Given the description of an element on the screen output the (x, y) to click on. 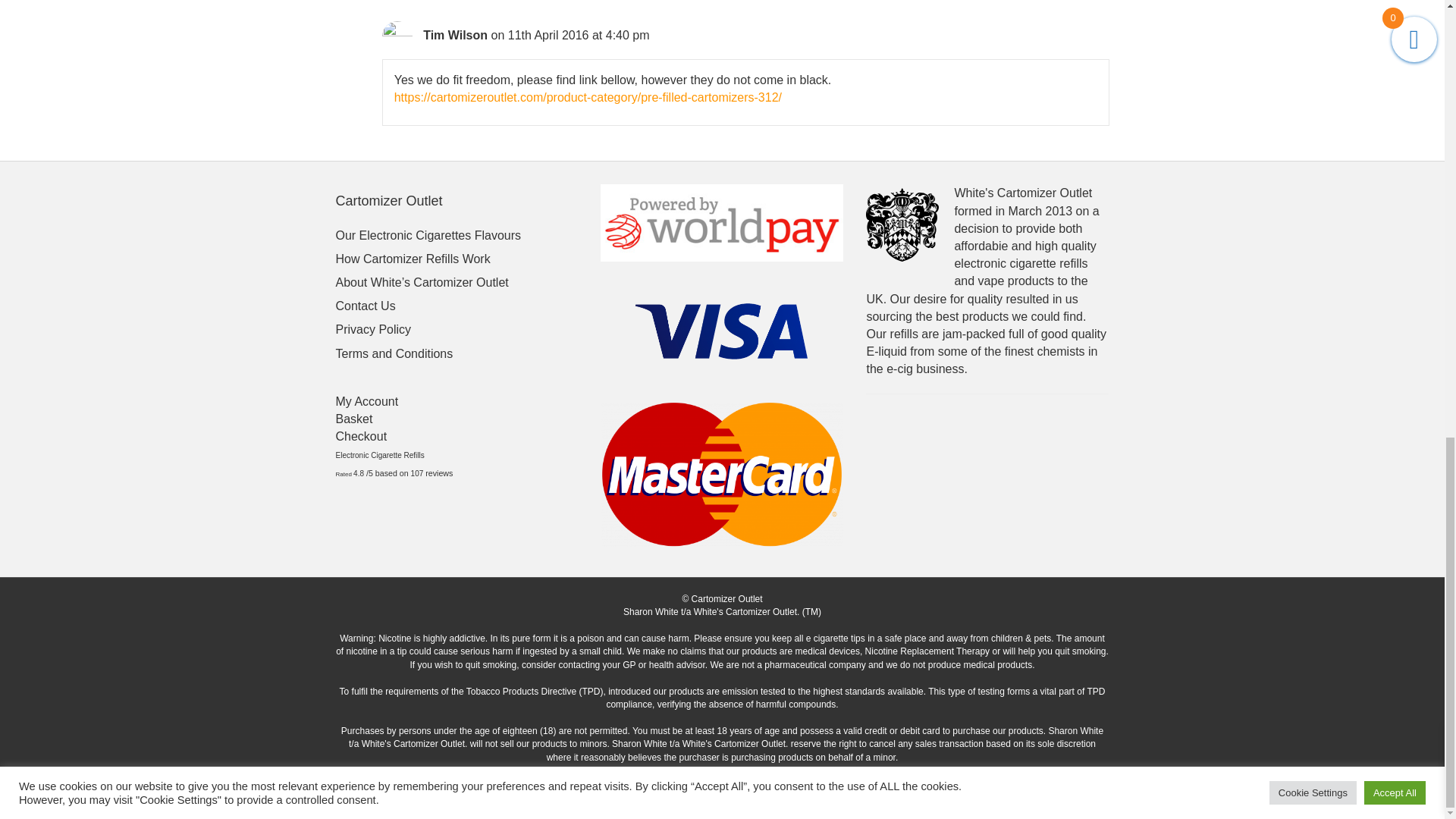
Terms and Conditions (393, 353)
Our Electronic Cigarettes Flavours (427, 235)
How Cartomizer Refills Work (411, 258)
Basket (353, 418)
Privacy Policy (372, 328)
Contact Us (364, 305)
My Account (365, 400)
